Given the description of an element on the screen output the (x, y) to click on. 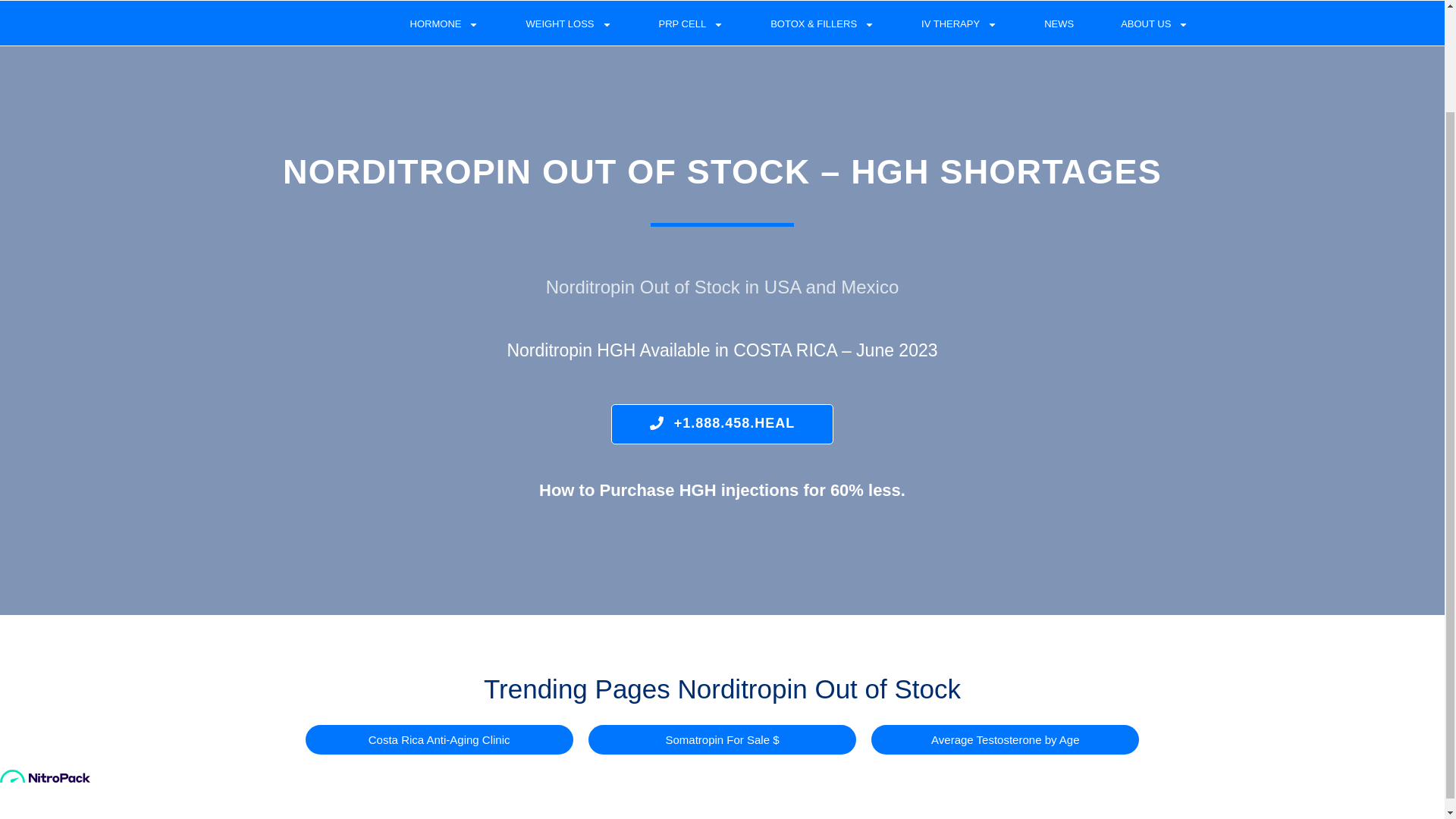
HORMONE (444, 24)
ABOUT US (1154, 24)
PRP CELL (691, 24)
NEWS (1058, 24)
IV THERAPY (959, 24)
WEIGHT LOSS (568, 24)
